Given the description of an element on the screen output the (x, y) to click on. 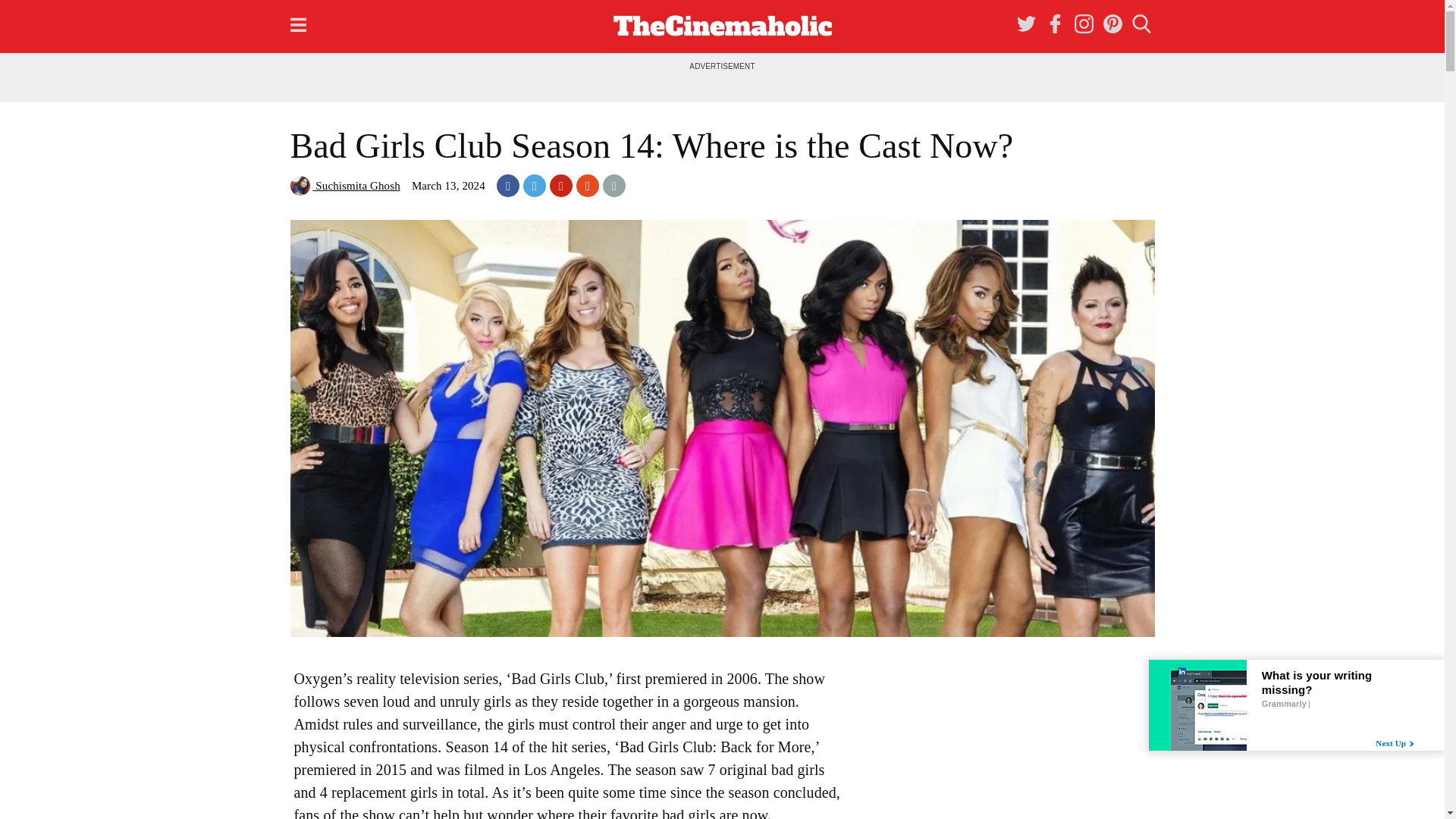
Suchismita Ghosh (343, 185)
